Given the description of an element on the screen output the (x, y) to click on. 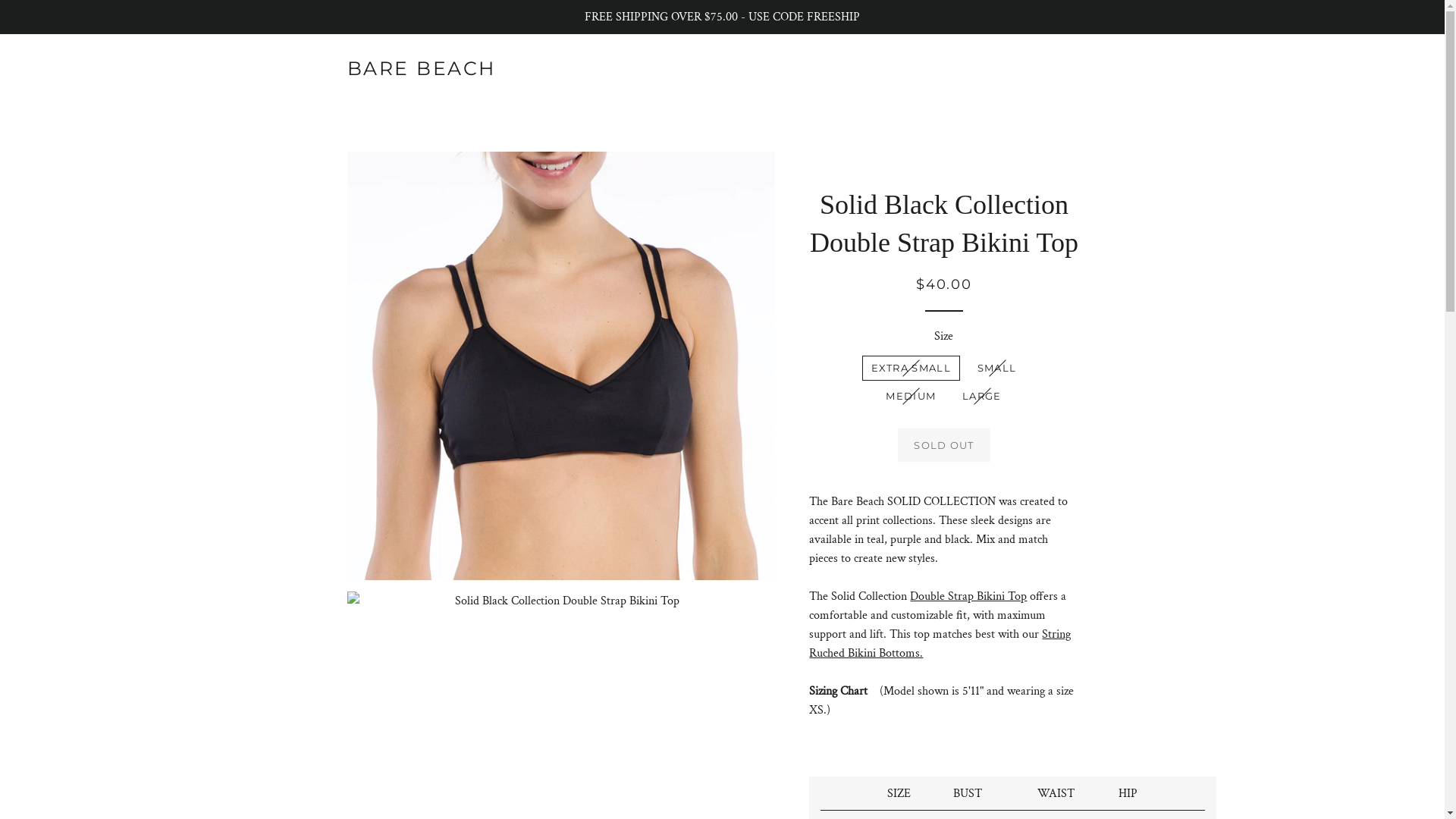
SOLD OUT Element type: text (943, 444)
BARE BEACH Element type: text (421, 68)
